Given the description of an element on the screen output the (x, y) to click on. 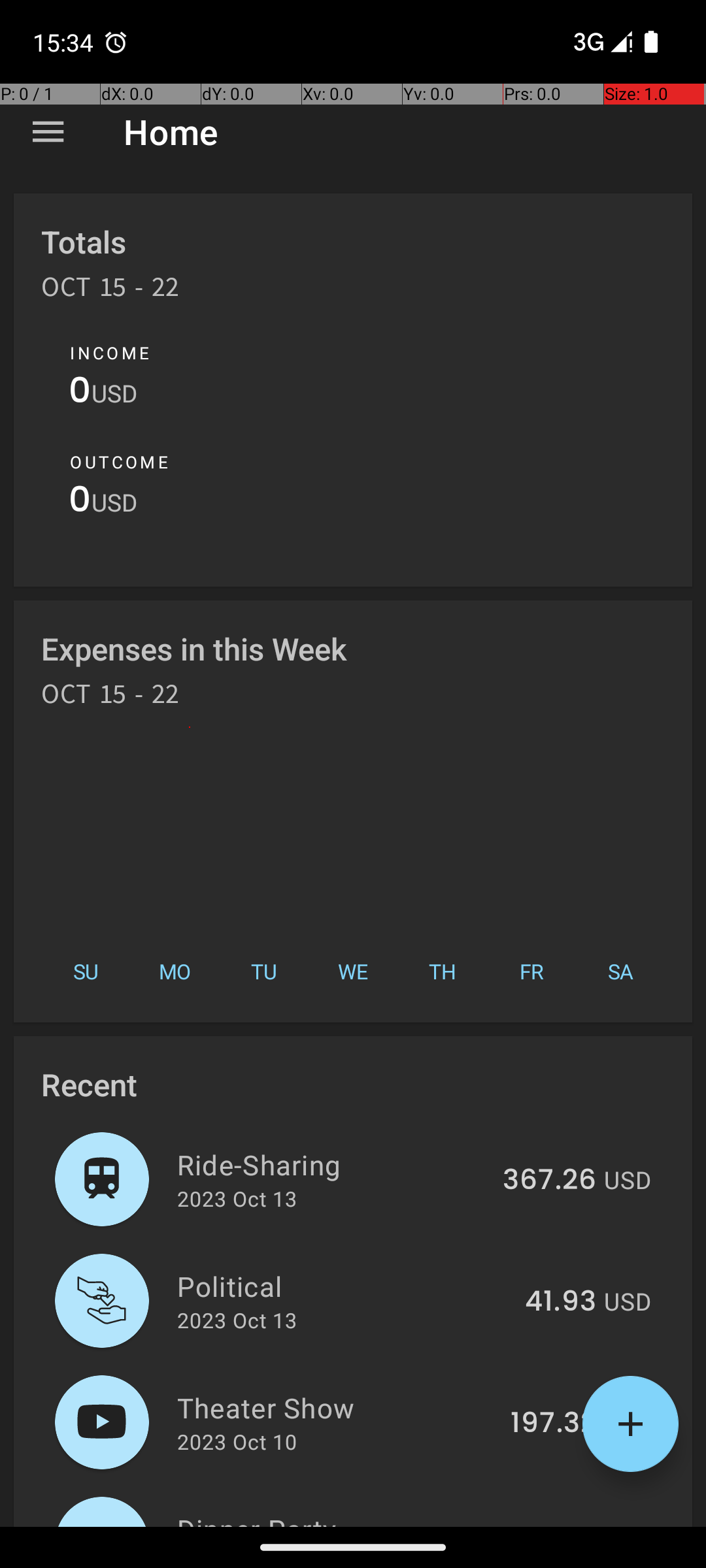
367.26 Element type: android.widget.TextView (549, 1180)
Political Element type: android.widget.TextView (343, 1285)
41.93 Element type: android.widget.TextView (560, 1301)
Theater Show Element type: android.widget.TextView (336, 1407)
197.32 Element type: android.widget.TextView (552, 1423)
499.74 Element type: android.widget.TextView (547, 1524)
